Given the description of an element on the screen output the (x, y) to click on. 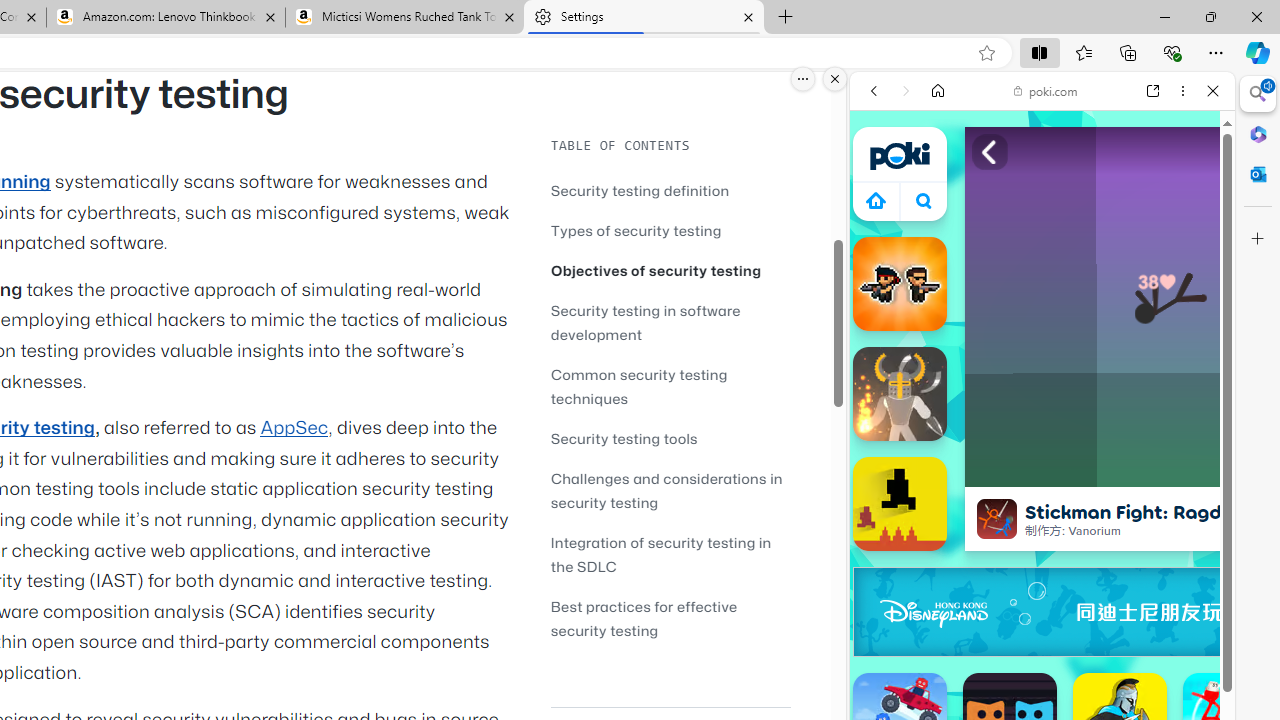
Security testing definition (639, 190)
VIDEOS (1006, 228)
Class: B_5ykBA46kDOxiz_R9wm (923, 200)
Show More Car Games (1164, 472)
SEARCH TOOLS (1093, 228)
Class: b_serphb (1190, 229)
Two Player Games (1042, 567)
Show More Io Games (1164, 619)
Class: aprWdaSScyiJf4Jvmsx9 (875, 200)
Ragdoll Hit (899, 393)
Integration of security testing in the SDLC (660, 554)
Level Devil Level Devil (899, 503)
Security testing definition (670, 190)
